Given the description of an element on the screen output the (x, y) to click on. 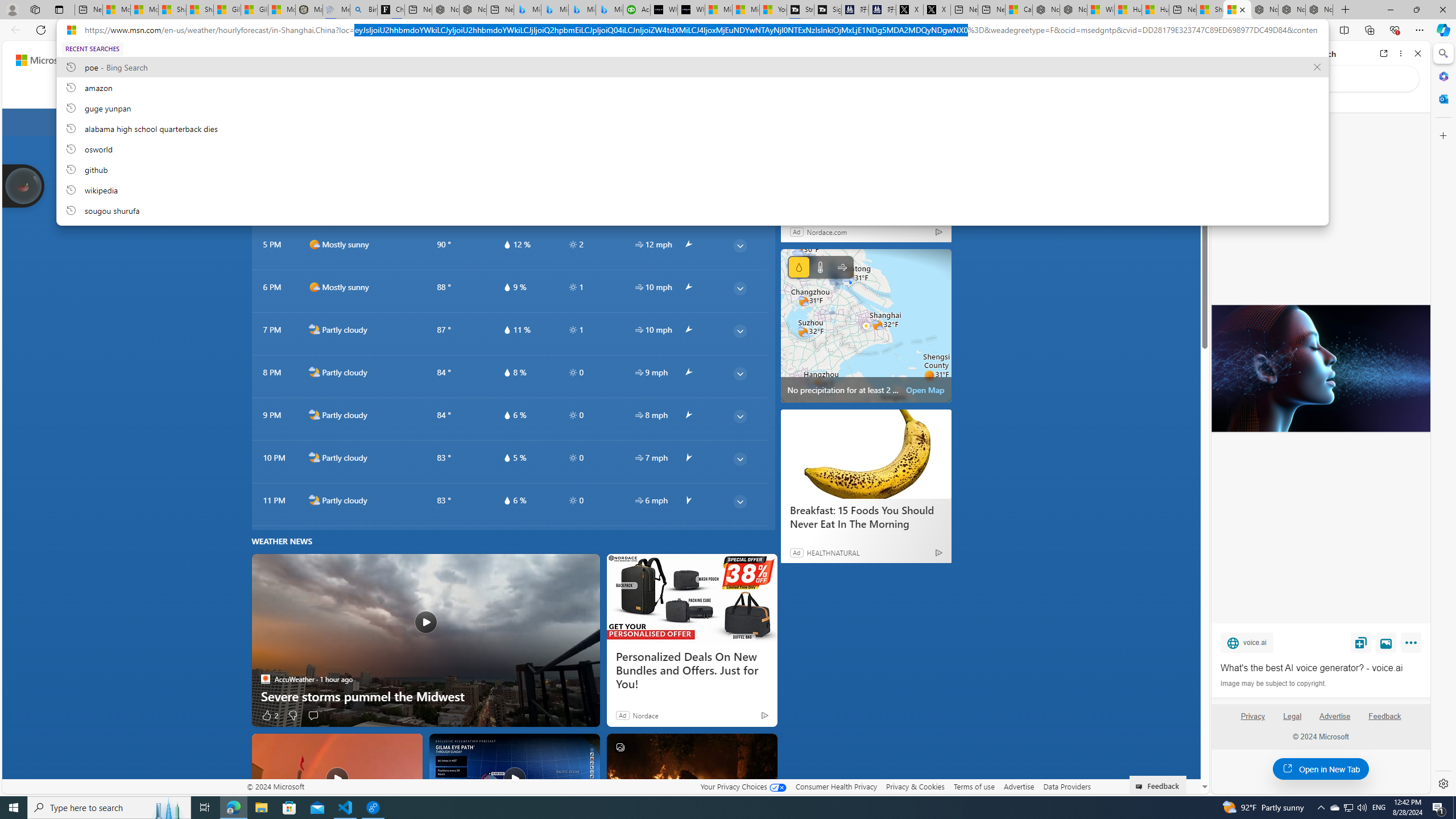
Wildlife - MSN (1100, 9)
Trends (471, 92)
Weather (297, 92)
Your Privacy Choices (743, 785)
Severe Weather (528, 92)
Enter your search term (603, 59)
Nordace.com (826, 231)
Maps (340, 92)
Class: miniMapRadarSVGView-DS-EntryPoint1-1 (866, 325)
Severe storms pummel the Midwest (425, 695)
